Given the description of an element on the screen output the (x, y) to click on. 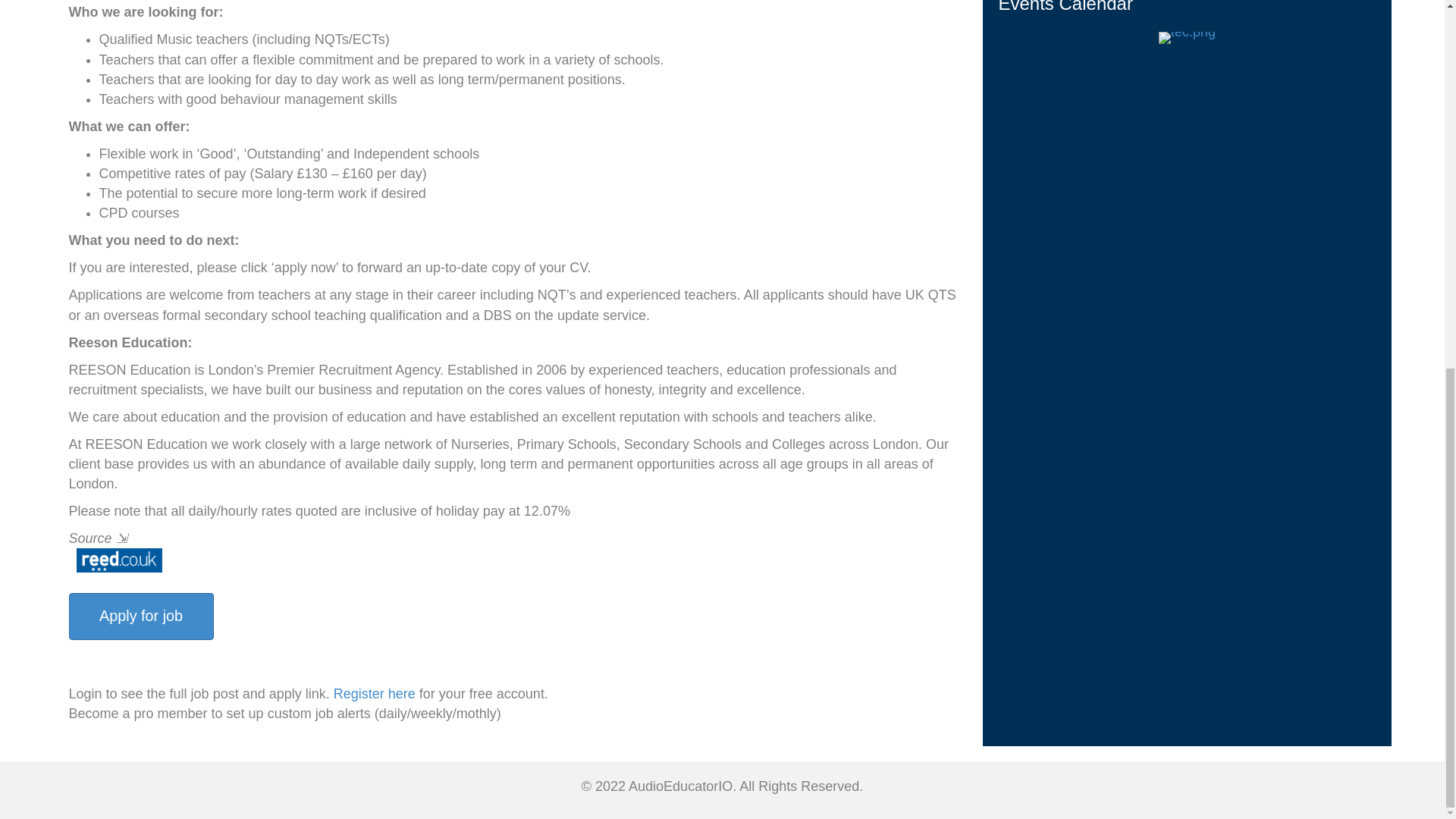
Reed.co.uk - job search results (114, 559)
Reed.co.uk - job search results (118, 559)
tec.png (1186, 37)
Register here (373, 693)
Apply for job (140, 615)
